Given the description of an element on the screen output the (x, y) to click on. 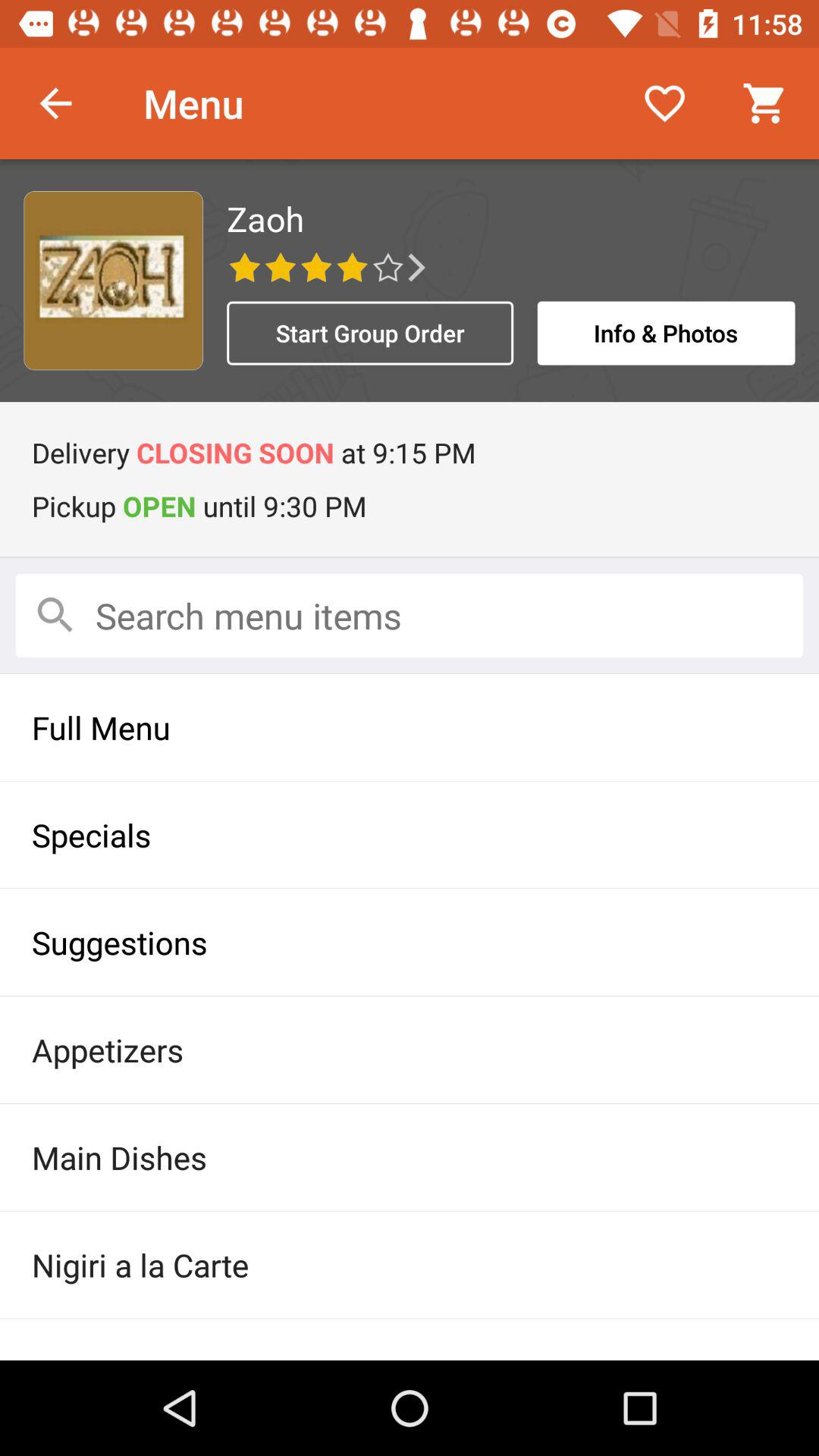
choose icon to the right of the menu item (664, 103)
